Given the description of an element on the screen output the (x, y) to click on. 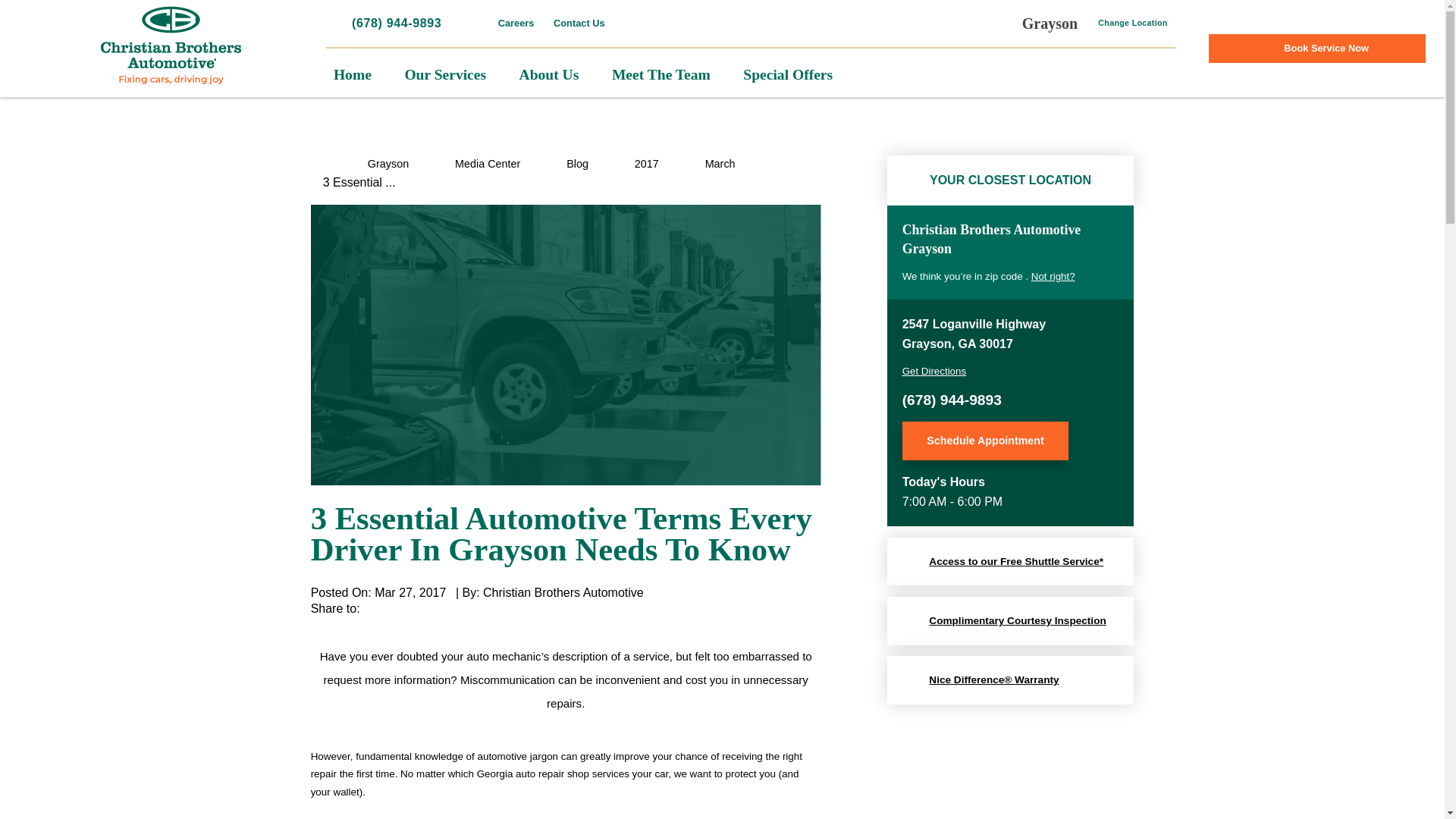
Change Location (1125, 23)
Go Home (316, 163)
Our Services (445, 74)
Contact Us (578, 23)
Christian Brothers Automotive (170, 45)
Careers (520, 23)
Home (352, 74)
